Given the description of an element on the screen output the (x, y) to click on. 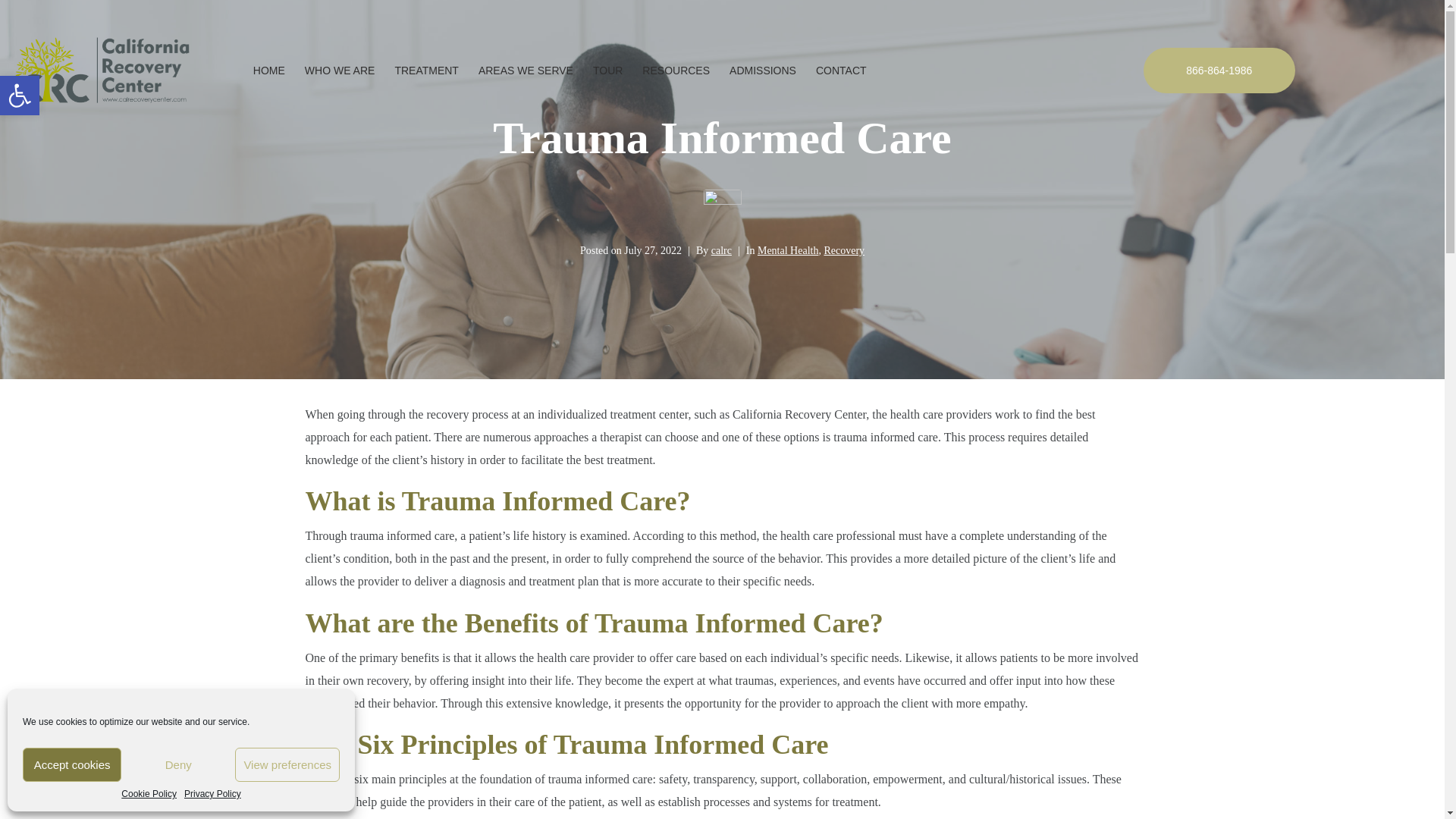
Accessibility Tools (19, 95)
Accept cookies (71, 764)
View preferences (286, 764)
WHO WE ARE (339, 70)
Privacy Policy (212, 794)
TREATMENT (426, 70)
Cookie Policy (148, 794)
HOME (269, 70)
Deny (19, 95)
Accessibility Tools (178, 764)
